Given the description of an element on the screen output the (x, y) to click on. 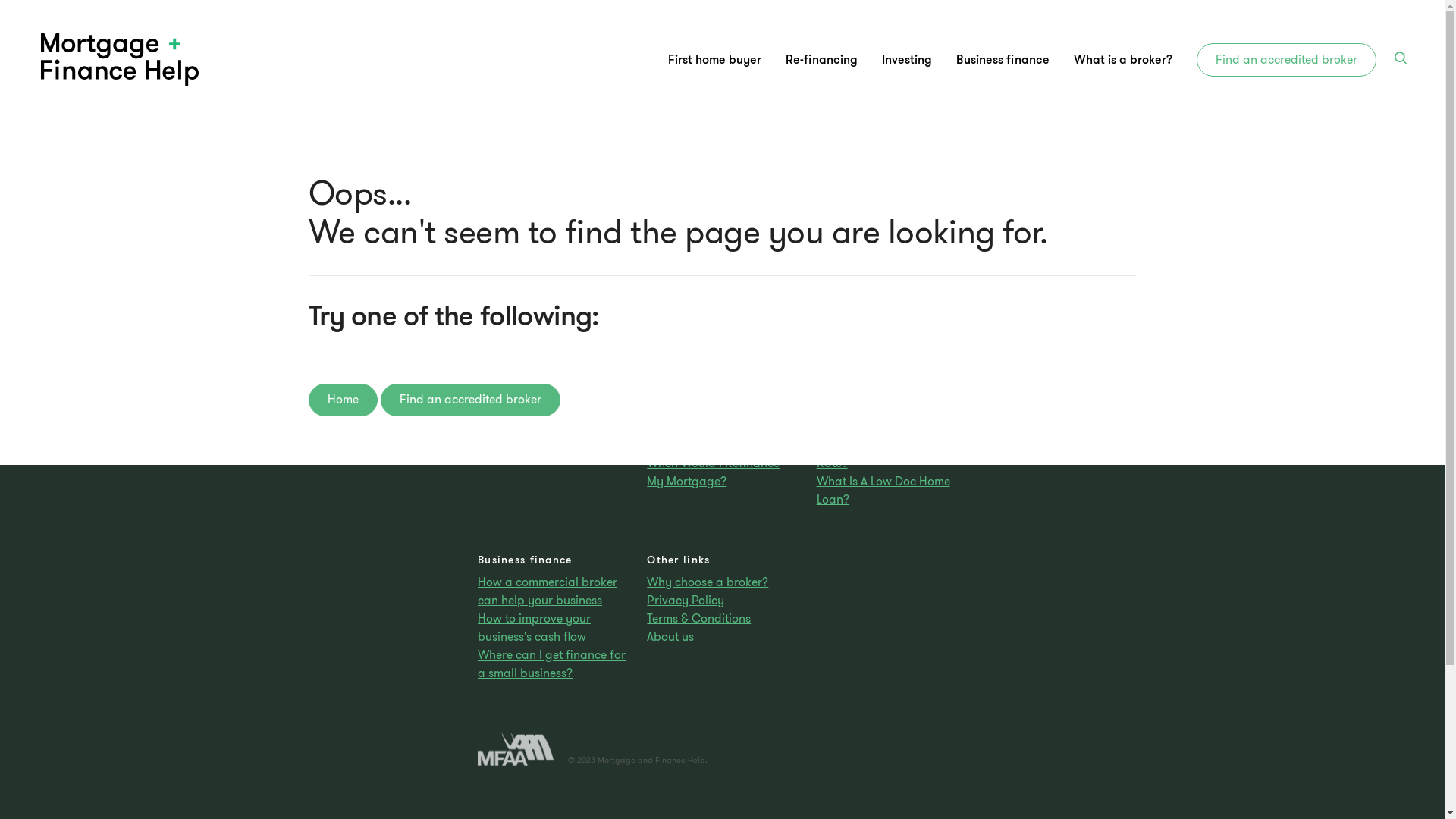
How Much Should I Borrow? Element type: text (891, 399)
What is a broker? Element type: text (1122, 59)
First home buyer Element type: text (714, 59)
Find an accredited broker Element type: text (1286, 59)
Privacy Policy Element type: text (721, 600)
Re-financing Element type: text (721, 368)
Finance Broker Or Bank? Element type: text (552, 445)
What Is A Reverse Mortgage? Element type: text (721, 435)
Find an accredited broker Element type: text (470, 400)
Re-financing Element type: text (821, 59)
First home buyer Element type: text (552, 368)
Terms & Conditions Element type: text (721, 618)
What Is A Low Doc Home Loan? Element type: text (891, 490)
Home Element type: text (342, 400)
Investing Element type: text (891, 368)
How To Avoid Extra Home Loan Fees Element type: text (552, 399)
Why choose a broker? Element type: text (721, 582)
Business finance Element type: text (1002, 59)
About us Element type: text (721, 636)
Should I Have Fixed Rate, Variable Rate Or Split Rate? Element type: text (891, 444)
Business finance Element type: text (552, 560)
How To Save A Deposit Element type: text (552, 426)
Other links Element type: text (721, 560)
Investing Element type: text (906, 59)
How a commercial broker can help your business Element type: text (552, 591)
What Do I Need To Know About Debt Consolidation? Element type: text (721, 399)
When Would I Refinance My Mortgage? Element type: text (721, 472)
Where can I get finance for a small business? Element type: text (552, 664)
How to improve your business's cash flow Element type: text (552, 627)
